Given the description of an element on the screen output the (x, y) to click on. 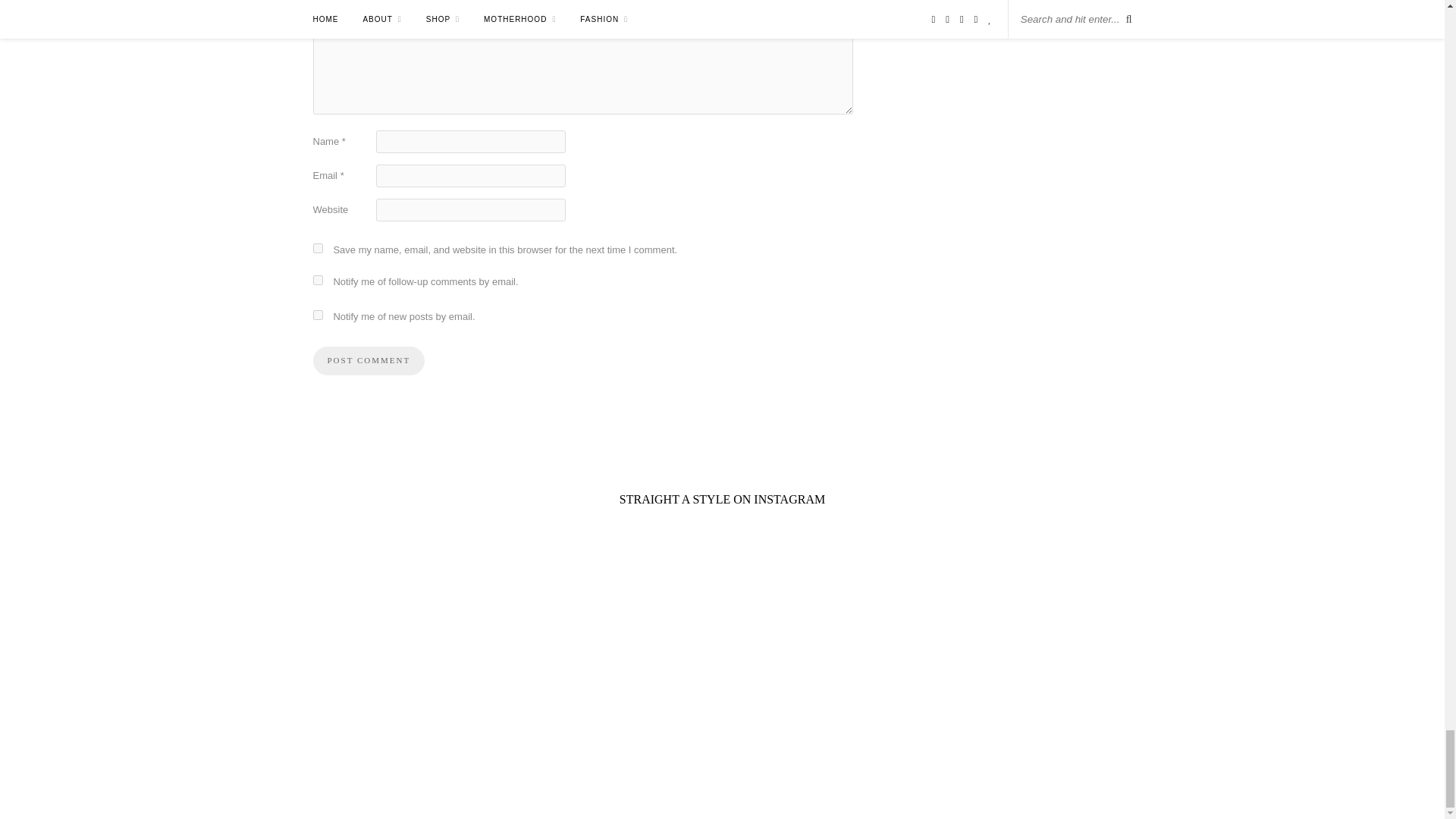
yes (317, 248)
subscribe (317, 280)
Post Comment (369, 360)
subscribe (317, 315)
